Given the description of an element on the screen output the (x, y) to click on. 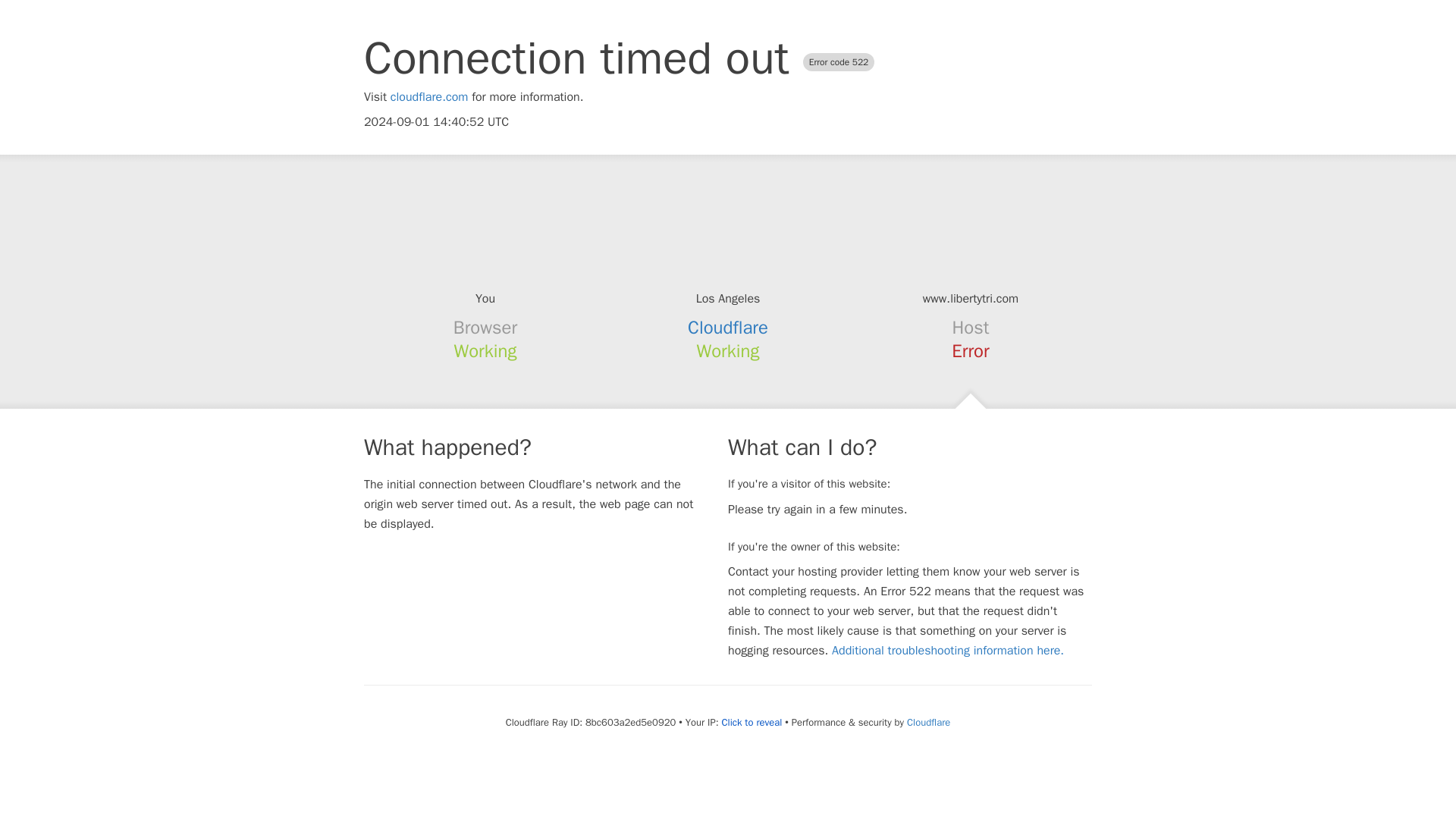
Click to reveal (750, 722)
Cloudflare (928, 721)
cloudflare.com (429, 96)
Additional troubleshooting information here. (947, 650)
Cloudflare (727, 327)
